Given the description of an element on the screen output the (x, y) to click on. 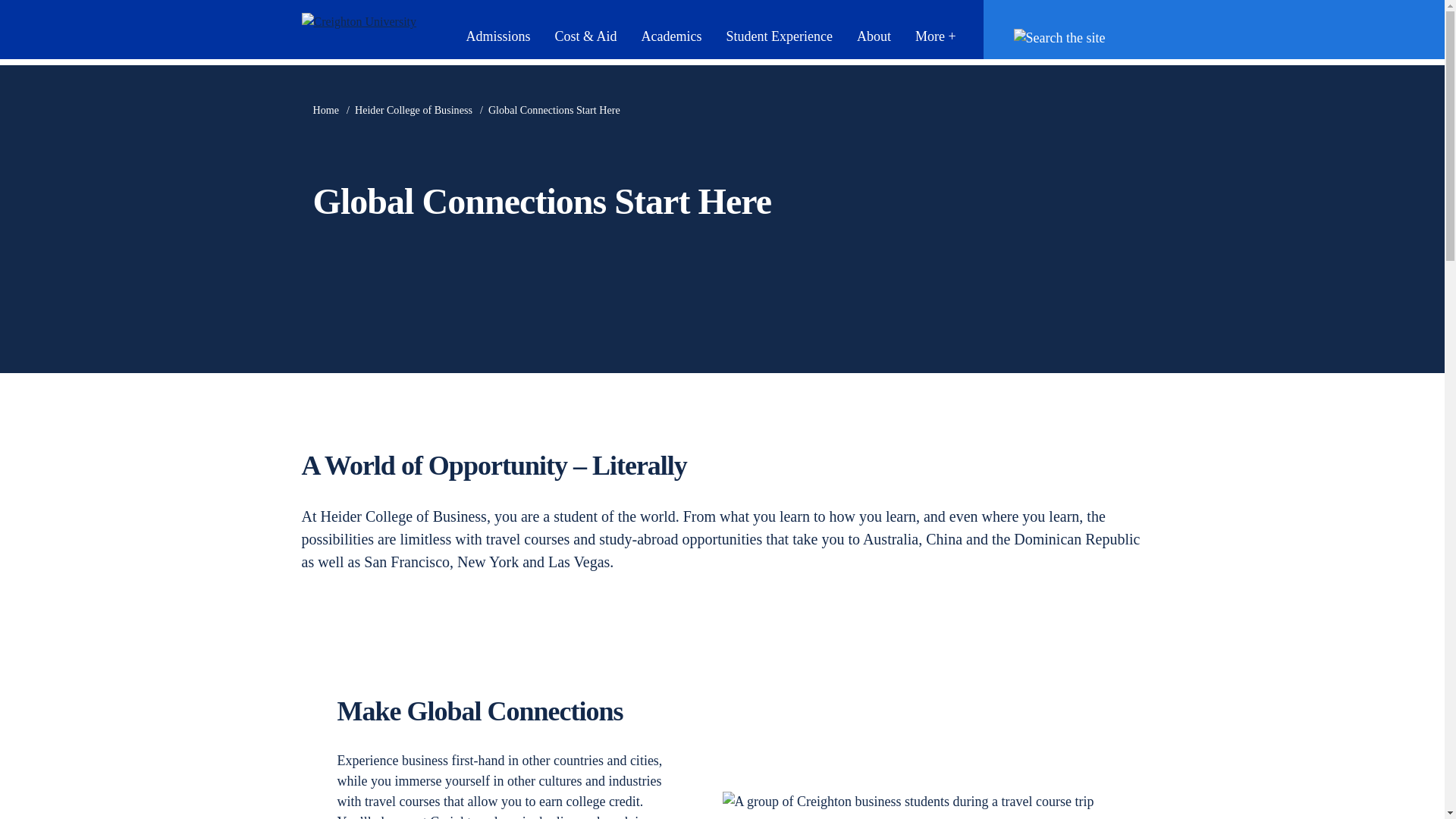
Search Creighton.edu (1066, 36)
Admissions (496, 36)
Student Experience (778, 36)
About (873, 36)
Academics (670, 36)
